Given the description of an element on the screen output the (x, y) to click on. 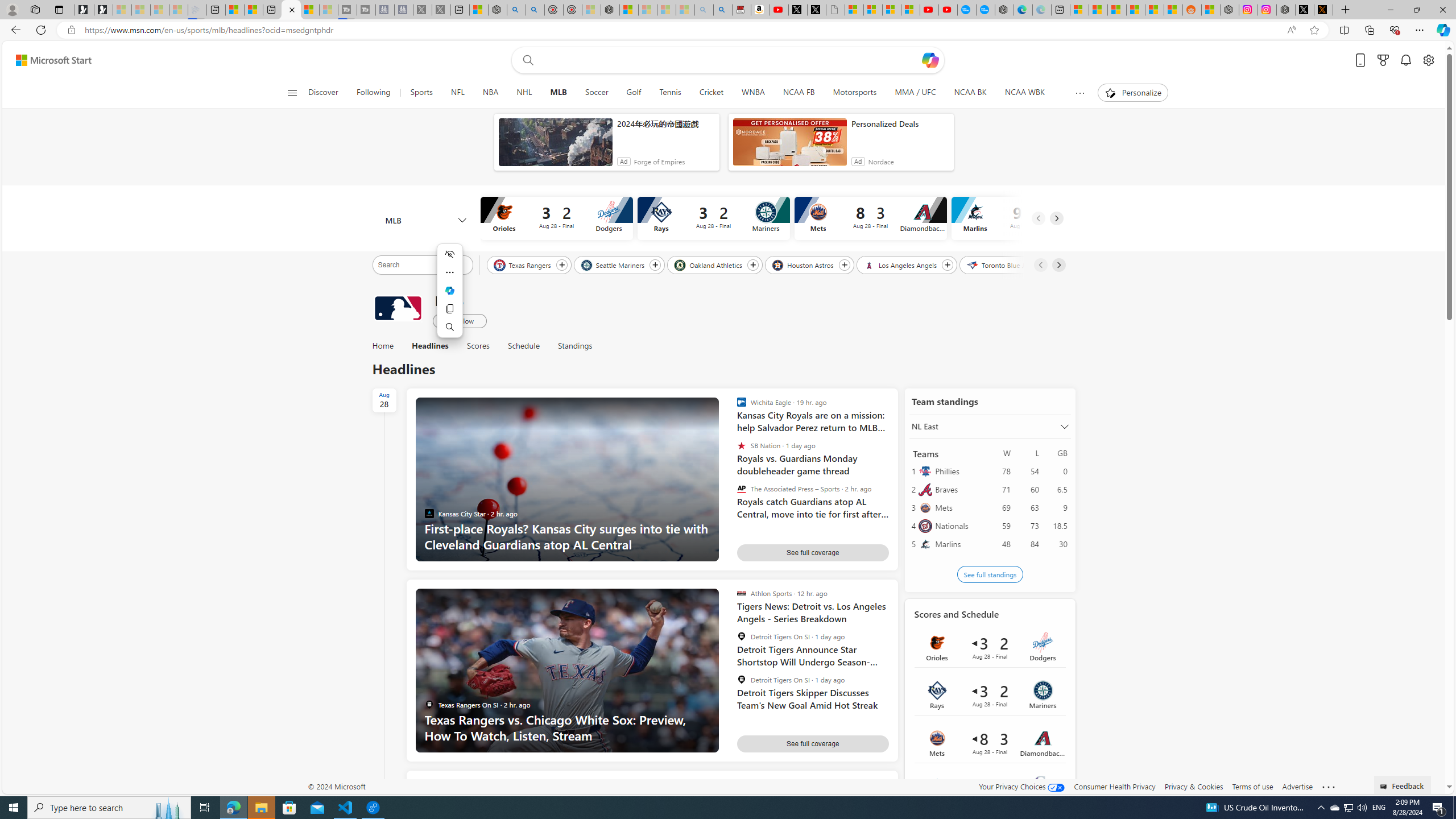
Follow Oakland Athletics (752, 265)
Marlins 9 vs Rockies 8Final Date Aug 28 (989, 789)
Tennis (670, 92)
NBA (490, 92)
NHL (523, 92)
Rays 3 vs Mariners 2Final Date Aug 28 (989, 694)
Marlins (958, 544)
